Given the description of an element on the screen output the (x, y) to click on. 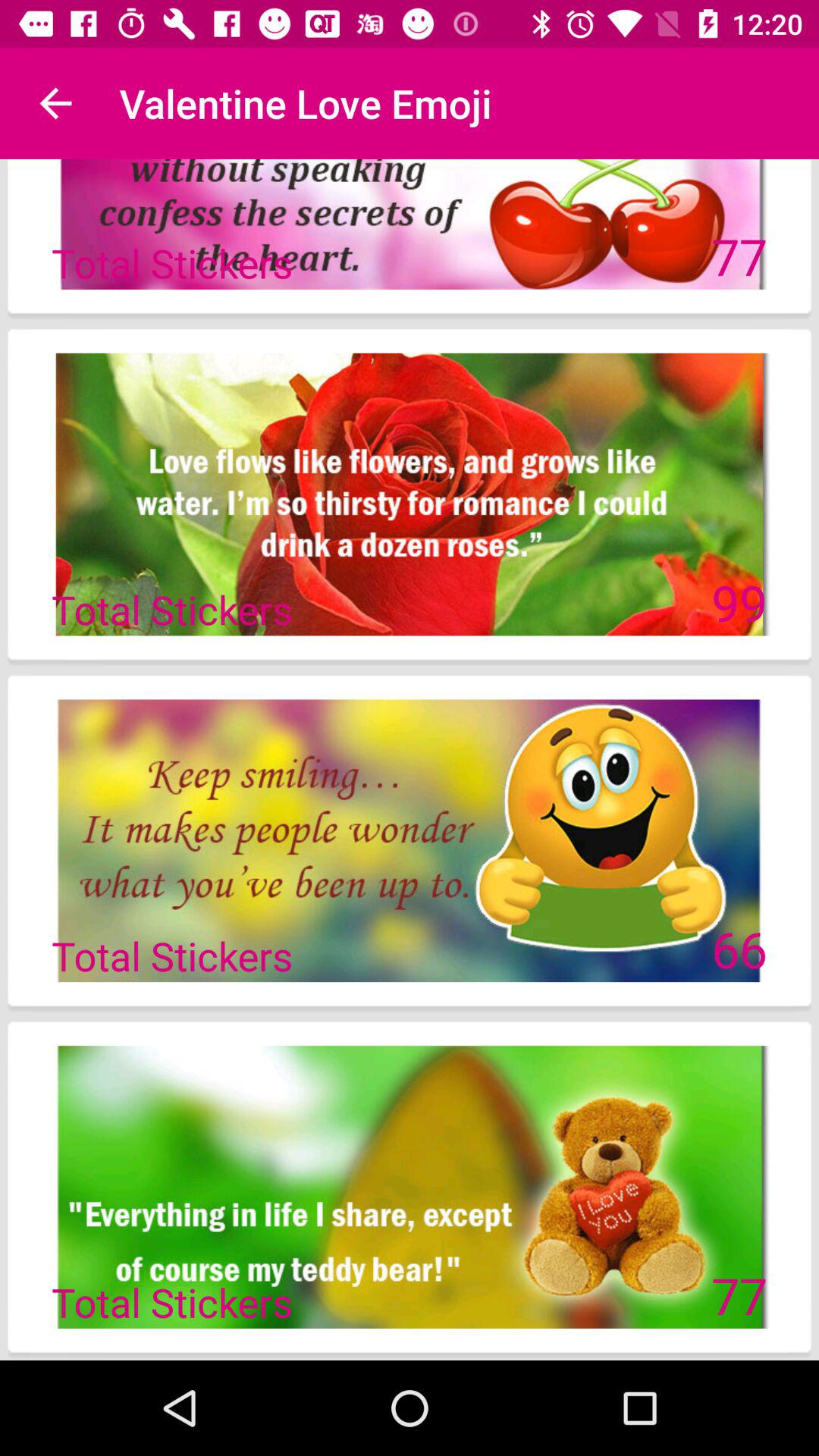
click icon to the right of total stickers item (739, 602)
